Given the description of an element on the screen output the (x, y) to click on. 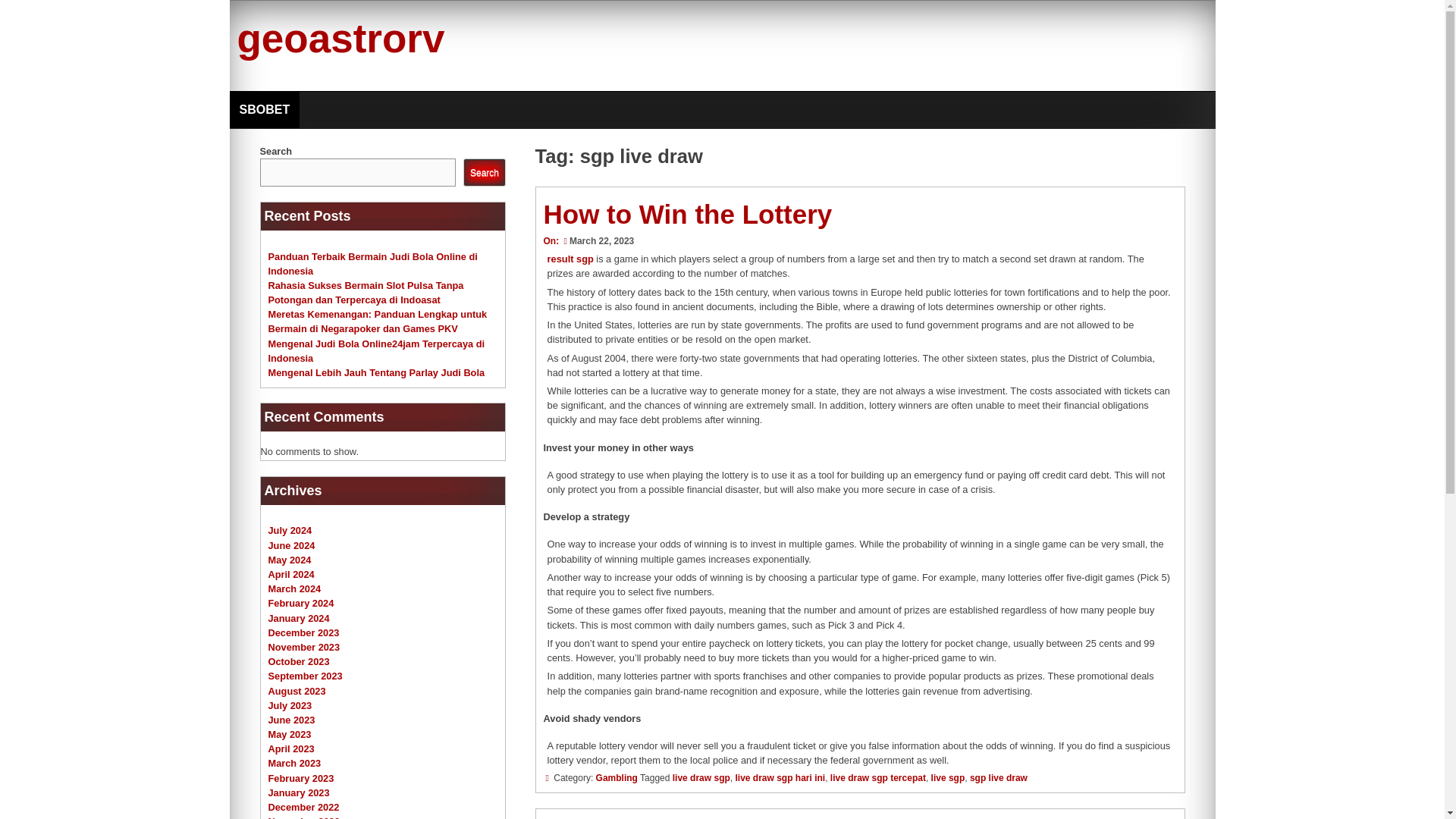
result sgp (570, 258)
November 2023 (303, 646)
May 2024 (289, 559)
October 2023 (298, 661)
March 22, 2023 (596, 240)
December 2023 (303, 632)
March 2024 (294, 588)
sgp live draw (998, 777)
How to Win the Lottery (687, 214)
geoastrorv (339, 37)
September 2023 (304, 675)
June 2024 (291, 545)
Gambling (616, 777)
July 2024 (290, 530)
Mengenal Lebih Jauh Tentang Parlay Judi Bola (375, 372)
